Given the description of an element on the screen output the (x, y) to click on. 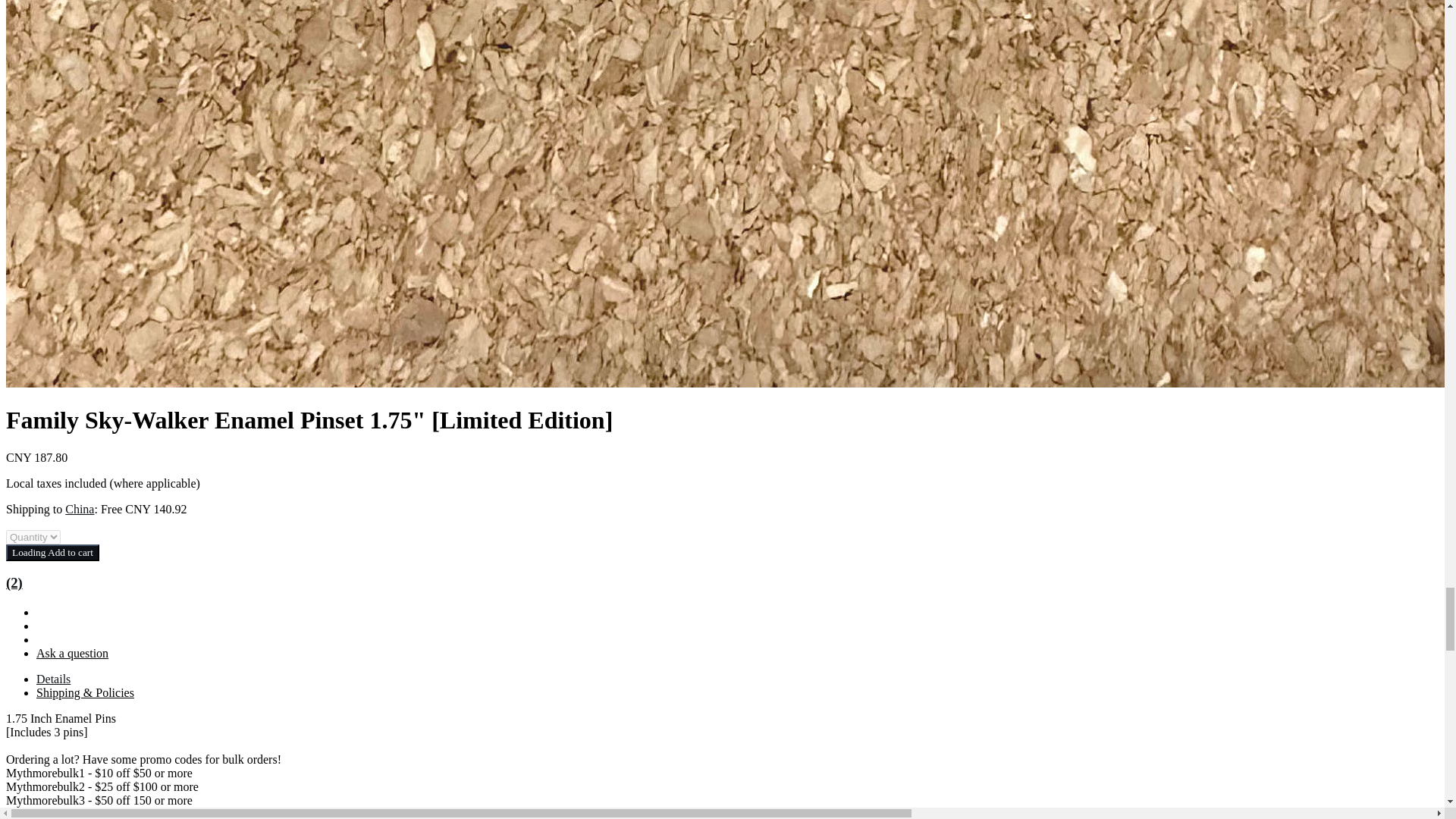
China (79, 508)
Ask a question (71, 653)
Details (52, 678)
Loading Add to cart (52, 552)
